Given the description of an element on the screen output the (x, y) to click on. 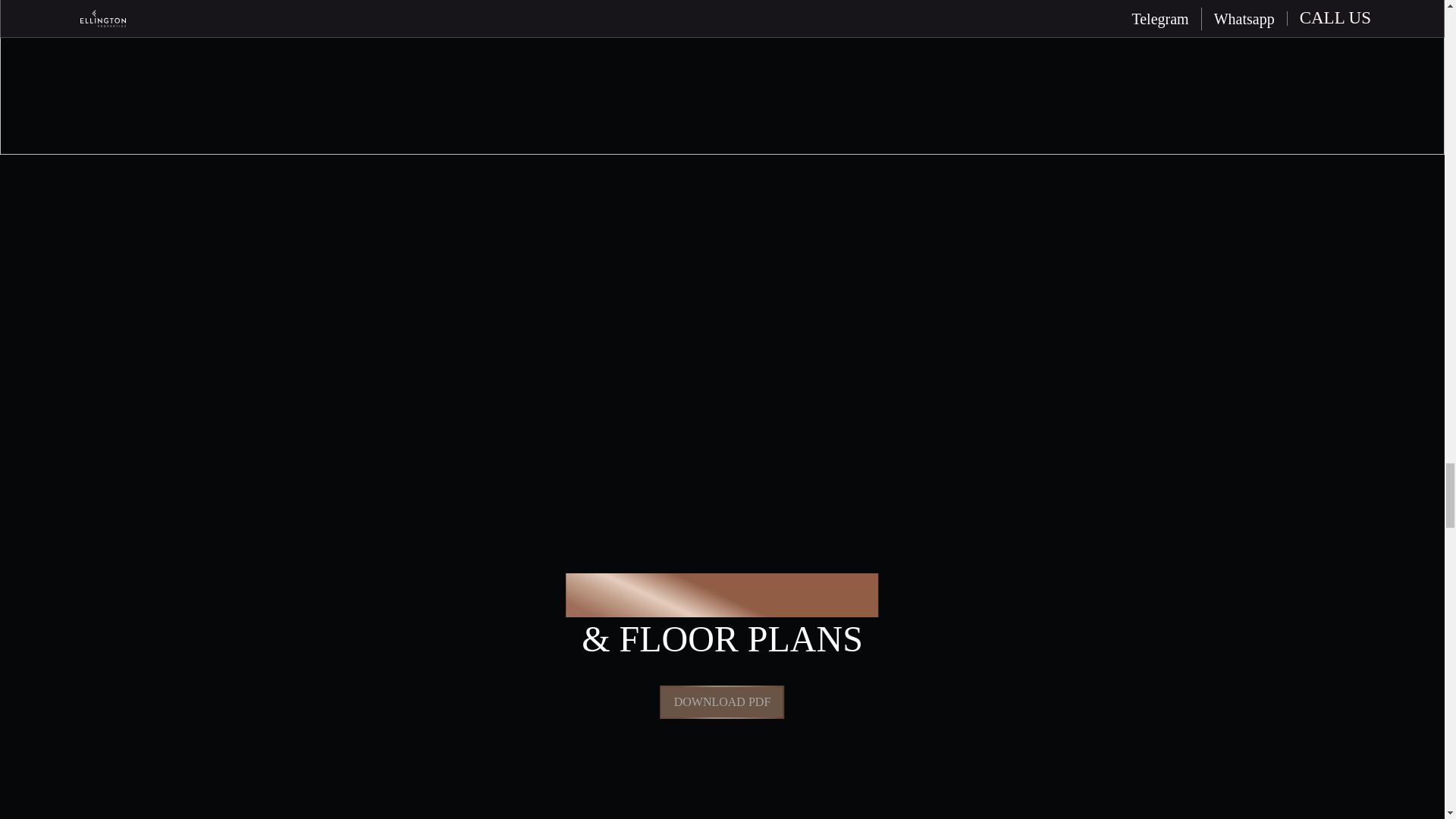
DOWNLOAD PDF (722, 702)
